Given the description of an element on the screen output the (x, y) to click on. 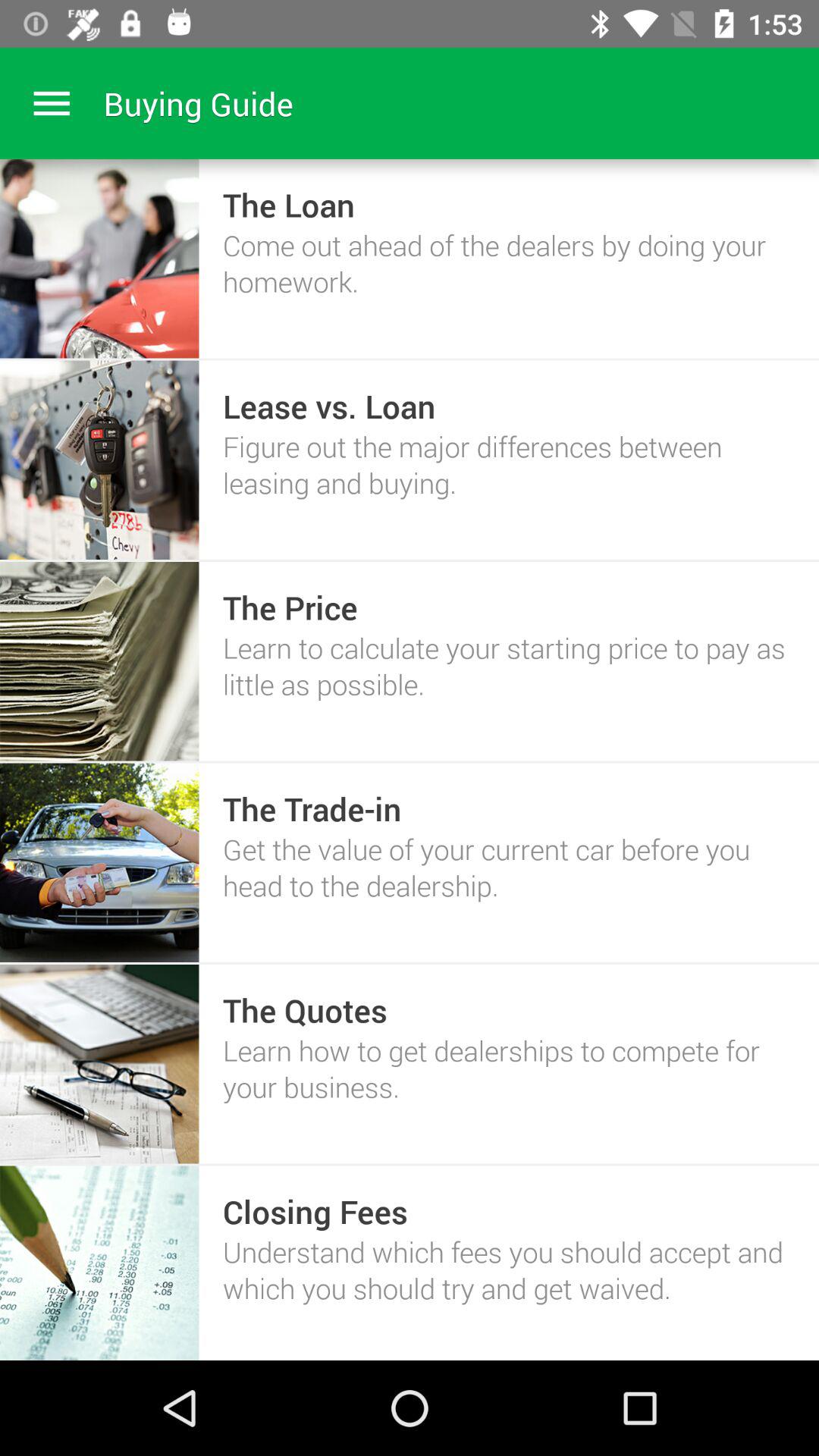
side menu option (51, 103)
